Given the description of an element on the screen output the (x, y) to click on. 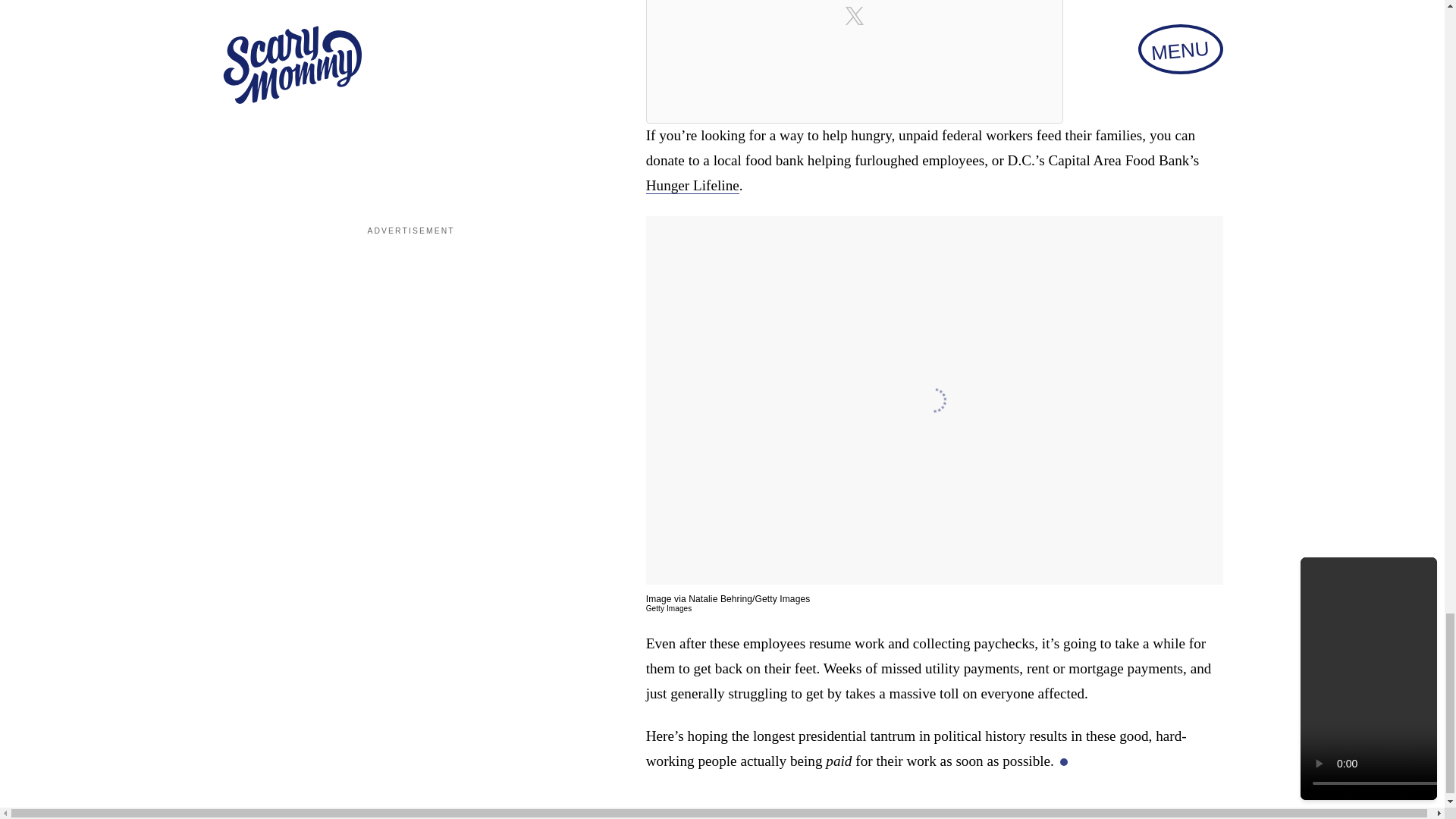
Hunger Lifeline (692, 185)
